Given the description of an element on the screen output the (x, y) to click on. 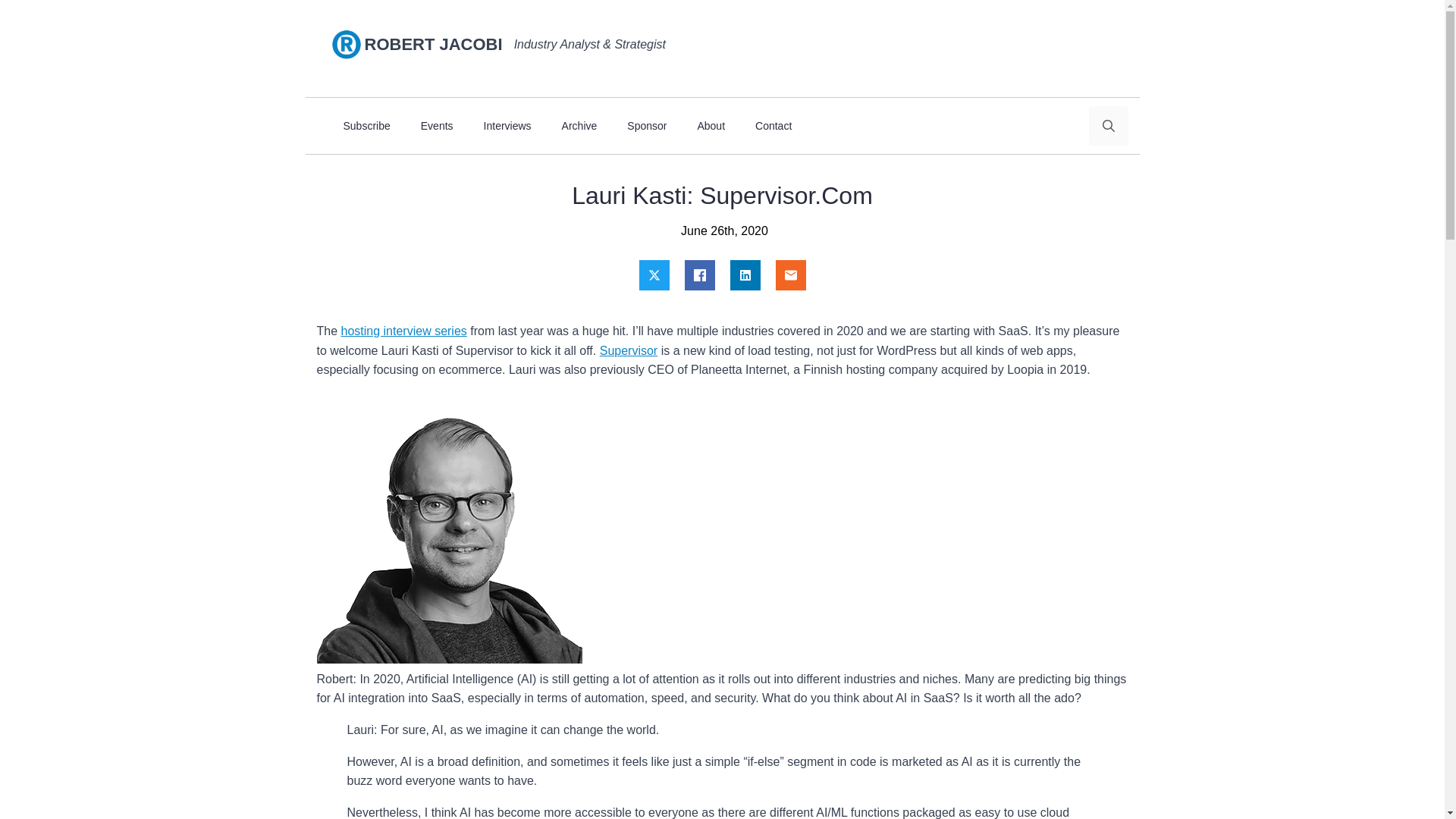
Interviews (507, 125)
Events (437, 125)
hosting interview series (403, 330)
Archive (579, 125)
ROBERT JACOBI (438, 44)
Supervisor (628, 350)
Sponsor (646, 125)
Contact (772, 125)
Subscribe (365, 125)
About (710, 125)
